Given the description of an element on the screen output the (x, y) to click on. 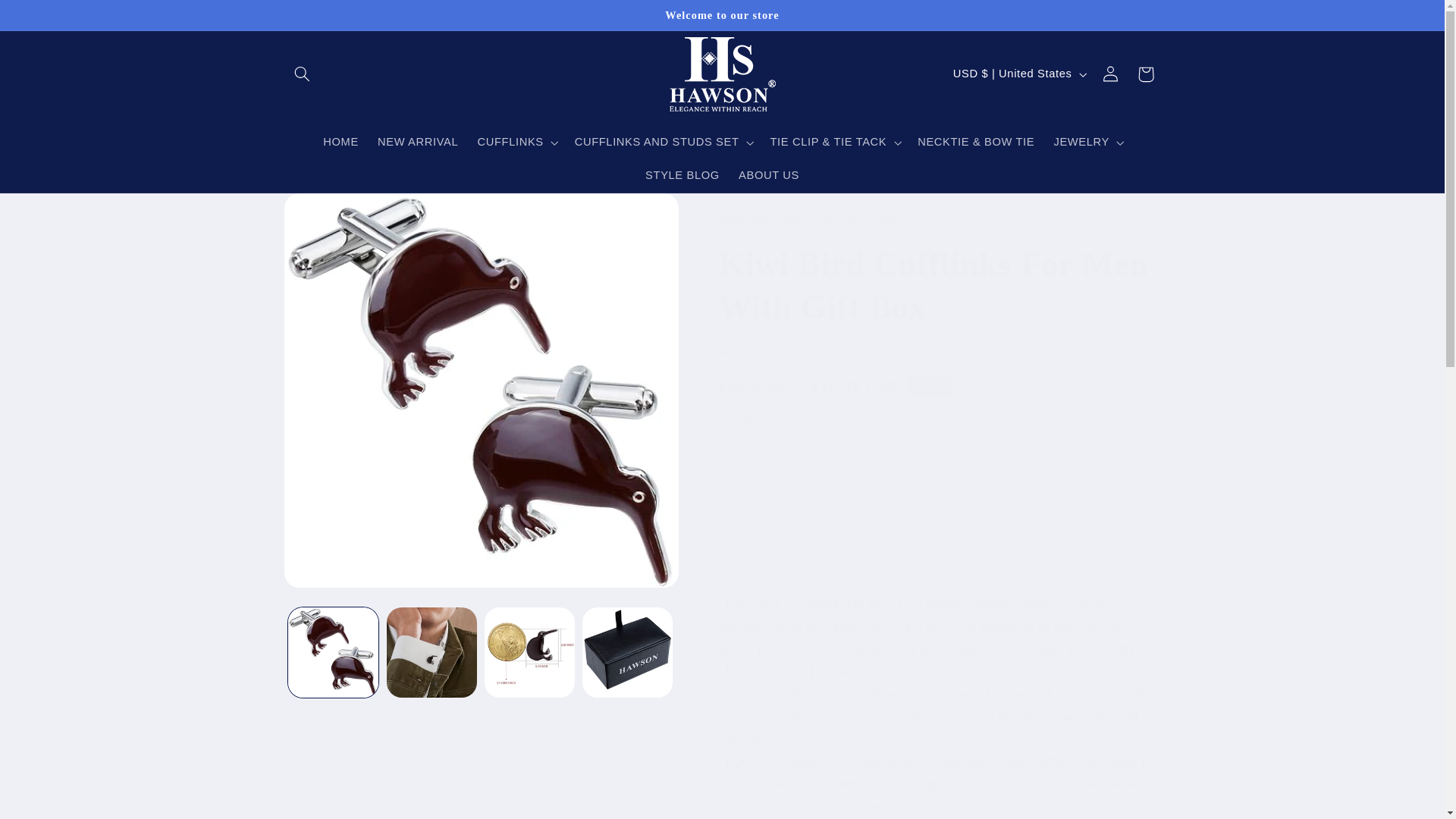
Skip to content (48, 18)
1 (771, 451)
